Given the description of an element on the screen output the (x, y) to click on. 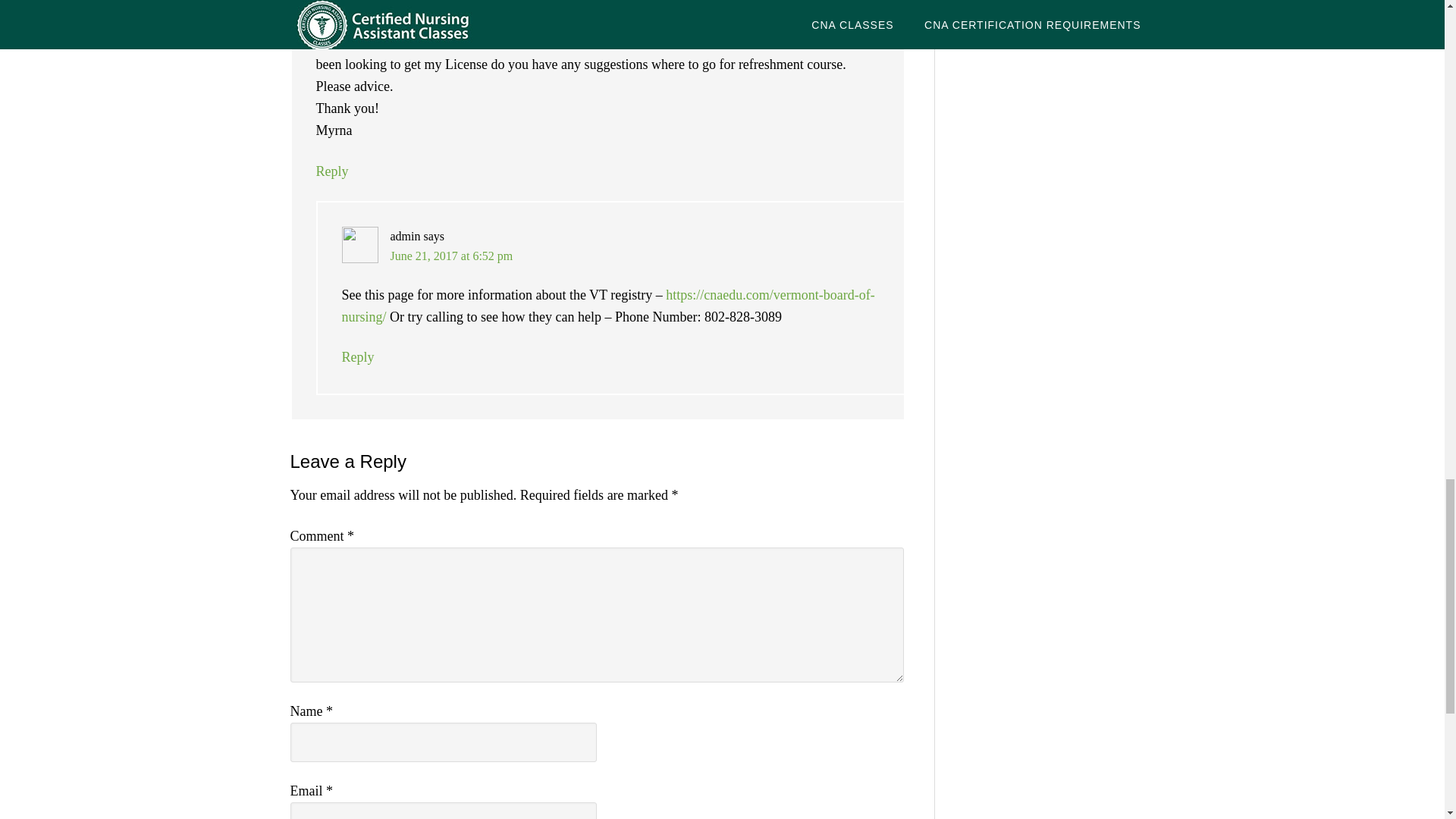
Reply (331, 171)
June 21, 2017 at 6:52 pm (451, 255)
Reply (357, 356)
